Given the description of an element on the screen output the (x, y) to click on. 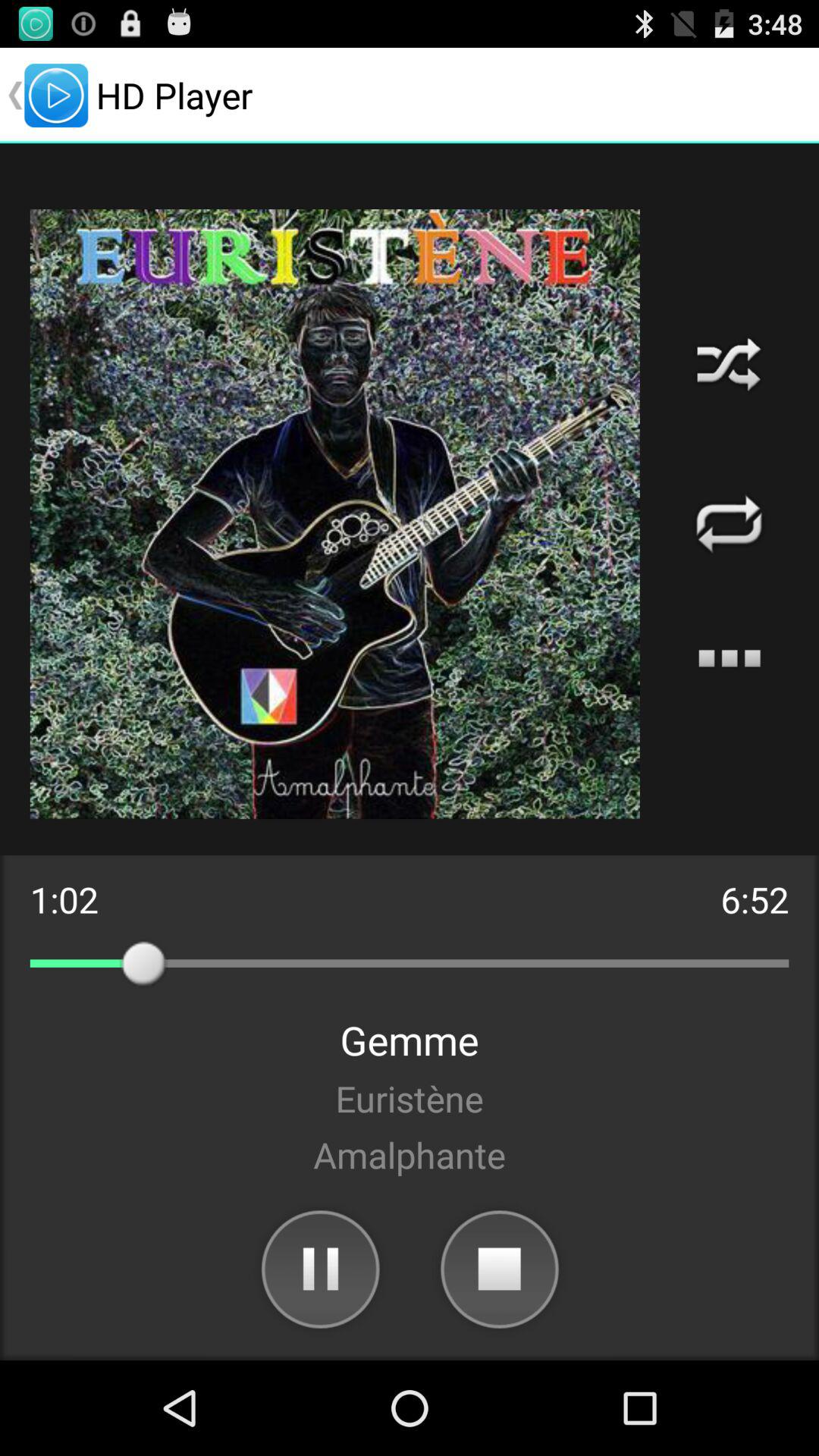
more options (729, 658)
